Given the description of an element on the screen output the (x, y) to click on. 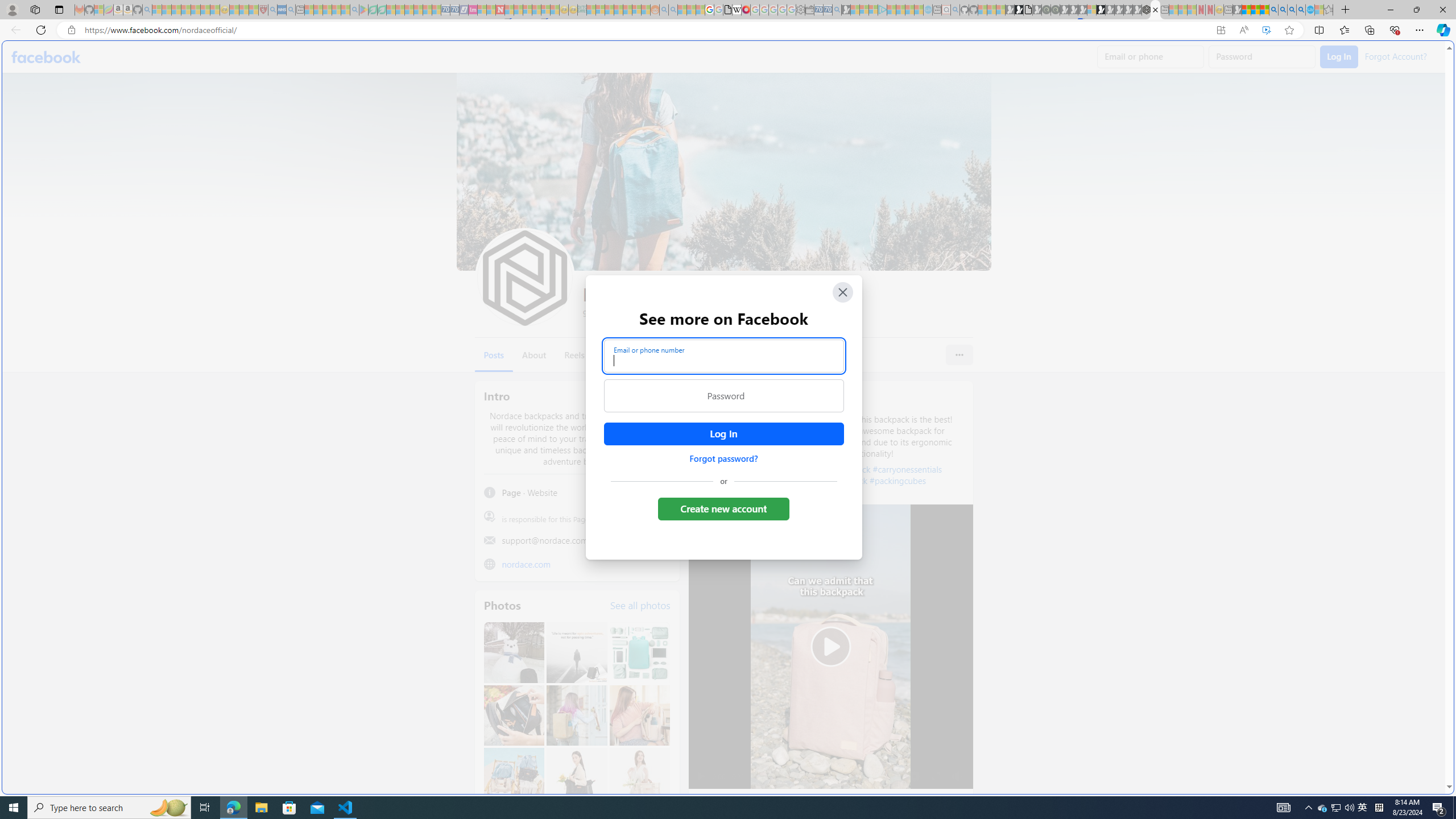
Enhance video (1266, 29)
Latest Politics News & Archive | Newsweek.com - Sleeping (499, 9)
Future Focus Report 2024 - Sleeping (1054, 9)
Nordace | Facebook (1154, 9)
Kinda Frugal - MSN - Sleeping (627, 9)
Forgot Account? (1395, 55)
Frequently visited (965, 151)
Utah sues federal government - Search - Sleeping (672, 9)
App available. Install Facebook (1220, 29)
Create new account (724, 508)
utah sues federal government - Search - Sleeping (290, 9)
Bing Real Estate - Home sales and rental listings - Sleeping (836, 9)
